Given the description of an element on the screen output the (x, y) to click on. 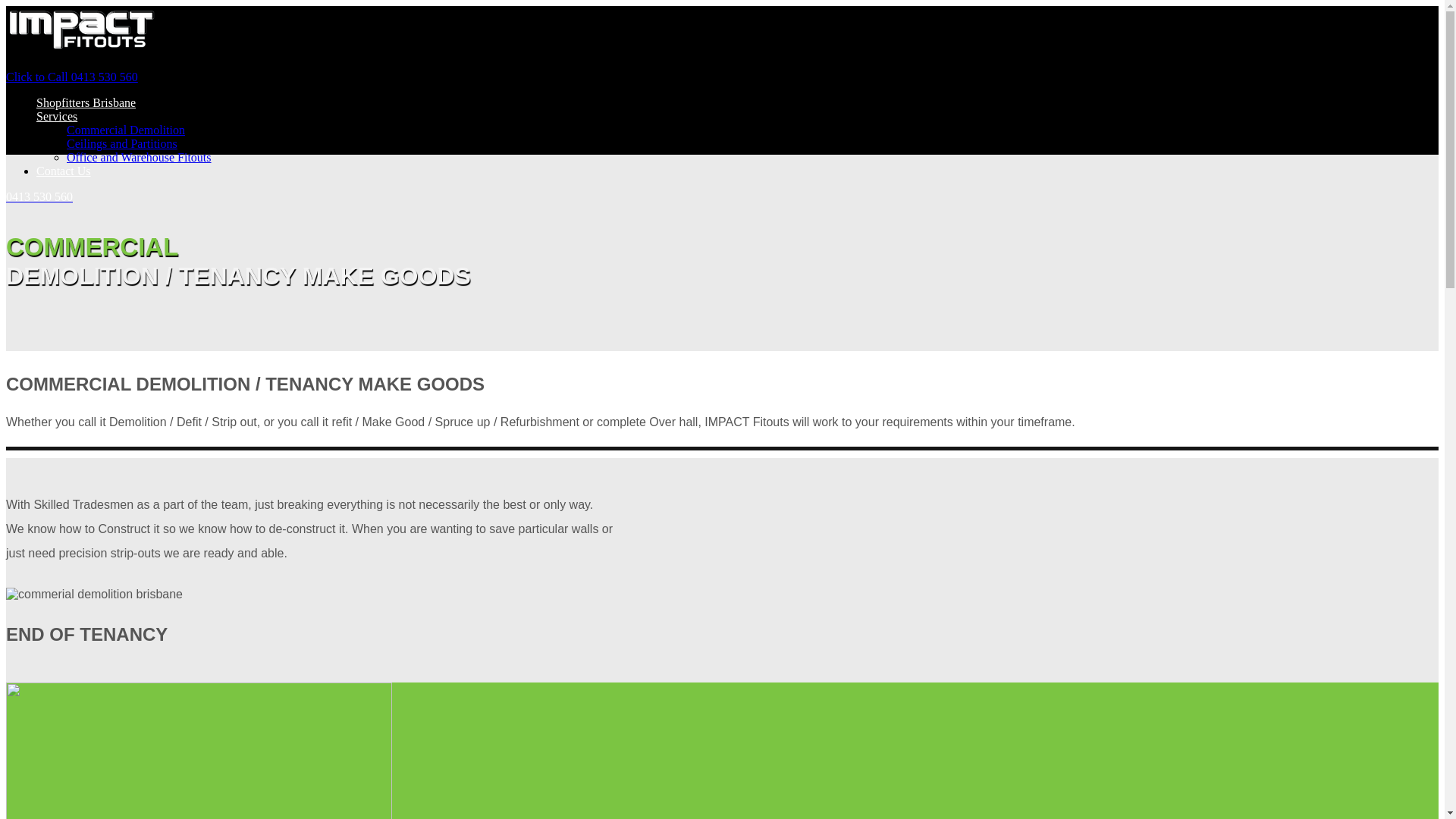
Contact Us Element type: text (63, 170)
Services Element type: text (56, 115)
Office and Warehouse Fitouts Element type: text (138, 156)
Click to Call 0413 530 560 Element type: text (722, 77)
Shopfitters Brisbane Element type: text (85, 102)
0413 530 560 Element type: text (722, 196)
Commercial Demolition Element type: text (125, 129)
Ceilings and Partitions Element type: text (121, 143)
